Given the description of an element on the screen output the (x, y) to click on. 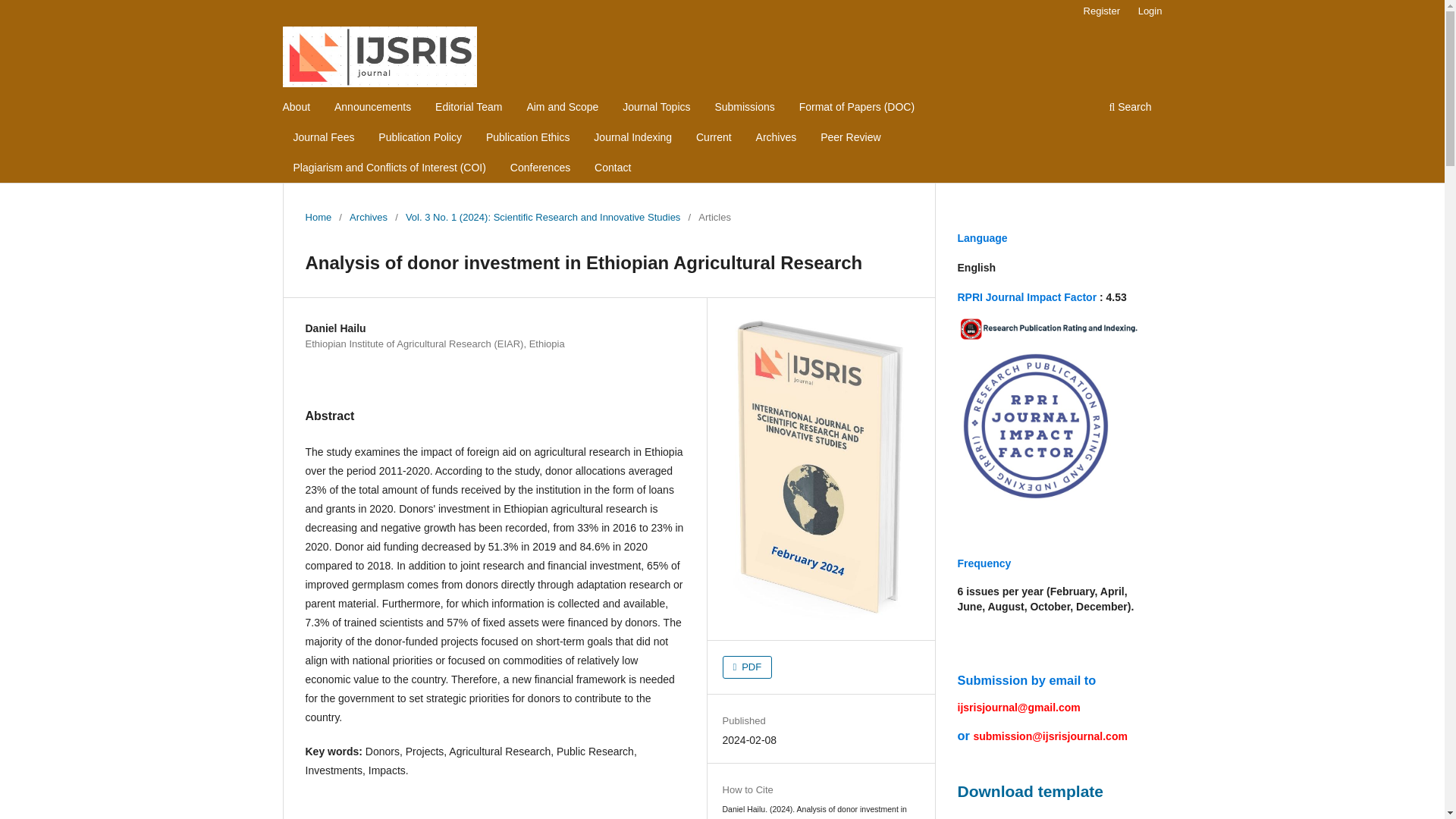
Archives (368, 217)
Aim and Scope (562, 108)
Editorial Team (467, 108)
Journal Indexing (632, 139)
Login (1150, 11)
Journal Topics (656, 108)
Register (1100, 11)
Announcements (372, 108)
About (296, 108)
Submissions (743, 108)
